Given the description of an element on the screen output the (x, y) to click on. 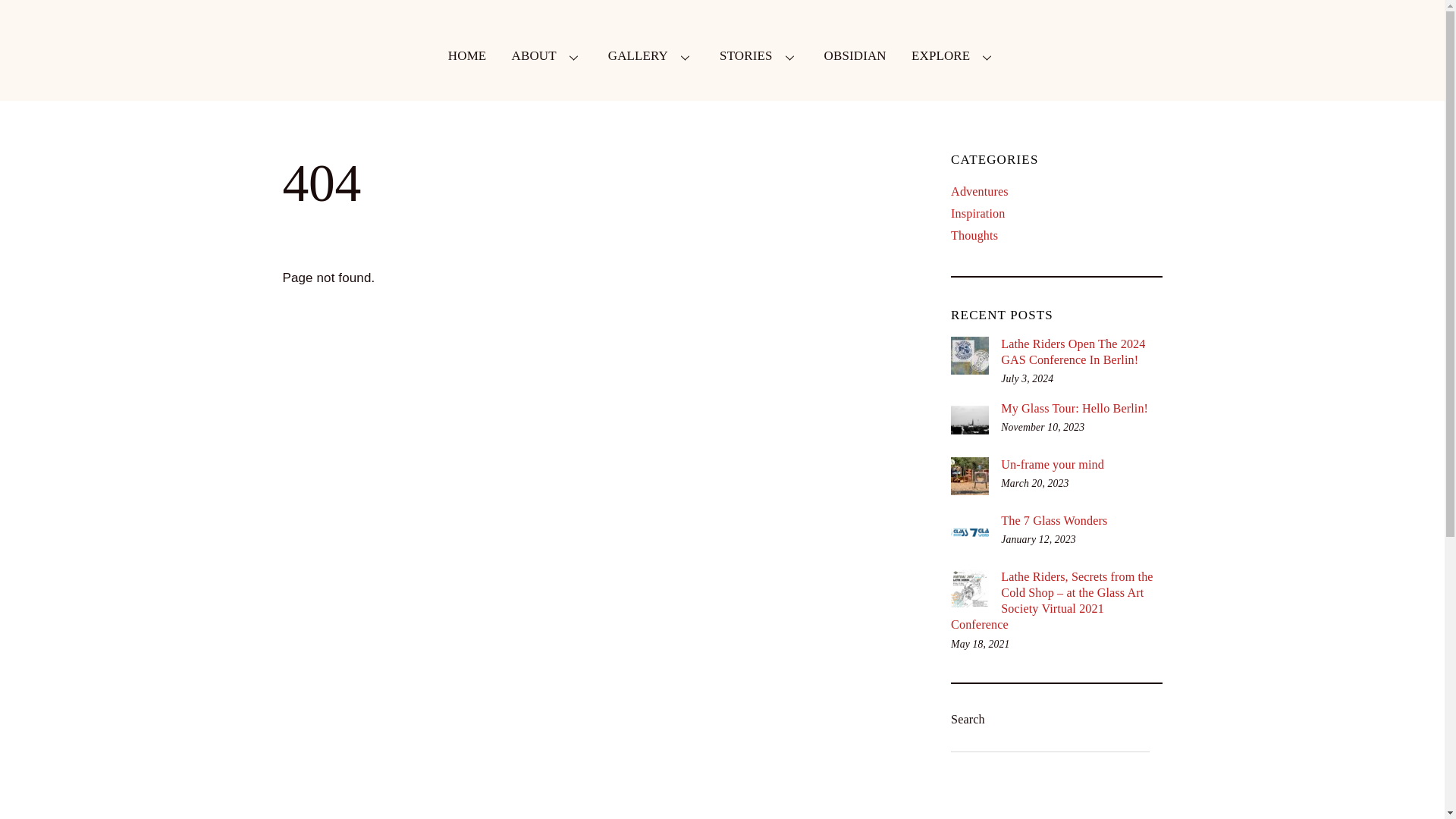
GALLERY (650, 56)
EXPLORE (954, 56)
Lathe Riders Open The 2024 GAS Conference In Berlin! (1055, 352)
Adventures (979, 191)
7GlassWonders (969, 532)
Thoughts (973, 235)
Un-frame your mind (1055, 465)
Inspiration (977, 213)
TINATV-Front-Gate (969, 476)
HOME (468, 56)
Lathe Riders at GAS (969, 355)
My Glass Tour: Hello Berlin! (721, 56)
OBSIDIAN (1055, 408)
The 7 Glass Wonders (854, 56)
